Given the description of an element on the screen output the (x, y) to click on. 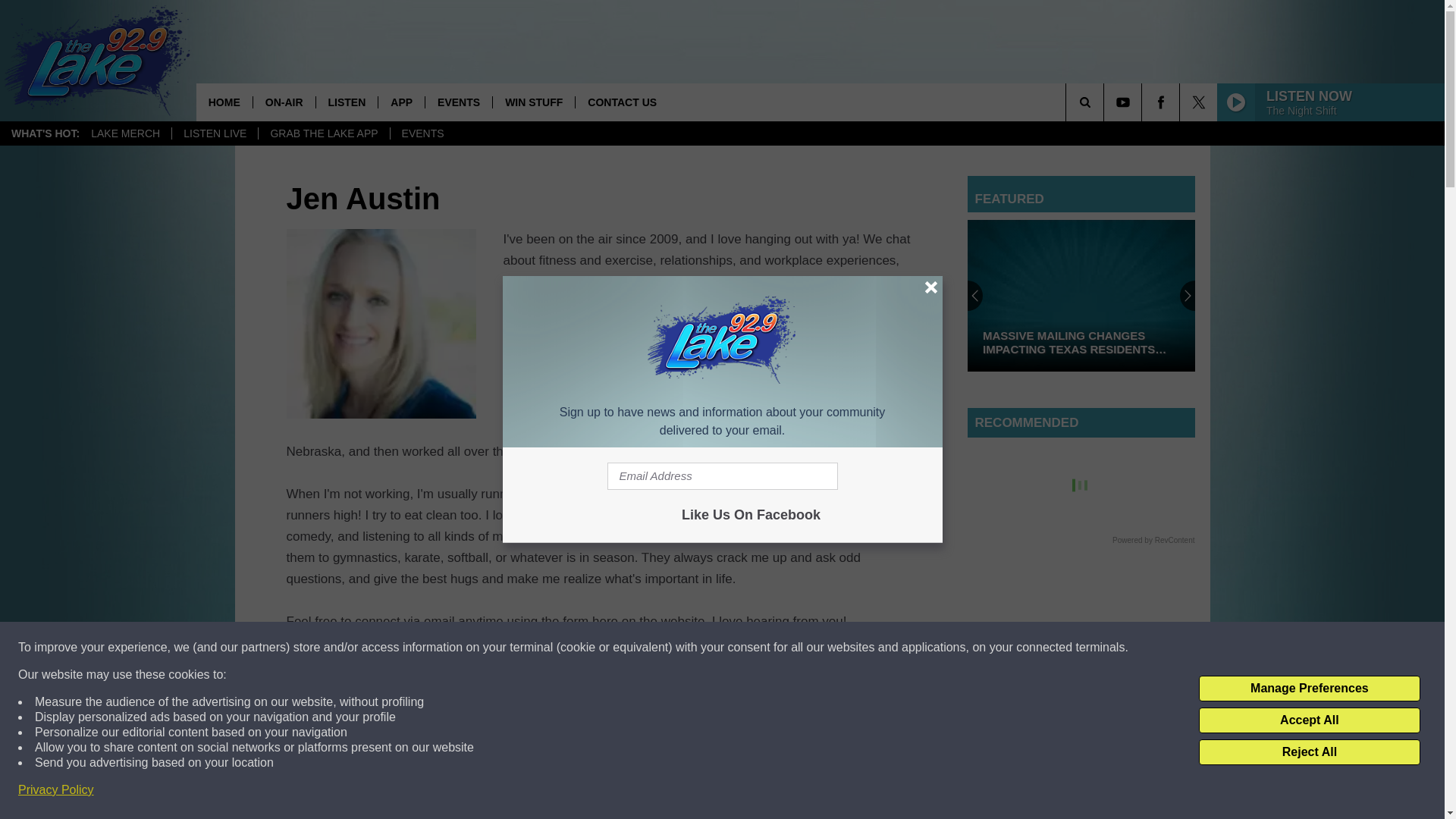
Manage Preferences (1309, 688)
Privacy Policy (55, 789)
EVENTS (422, 133)
Reject All (1309, 751)
ON-AIR (283, 102)
GRAB THE LAKE APP (322, 133)
APP (401, 102)
LAKE MERCH (125, 133)
LISTEN LIVE (214, 133)
Accept All (1309, 720)
Email Address (722, 475)
SEARCH (1106, 102)
WIN STUFF (533, 102)
LISTEN (346, 102)
CONTACT US (621, 102)
